Given the description of an element on the screen output the (x, y) to click on. 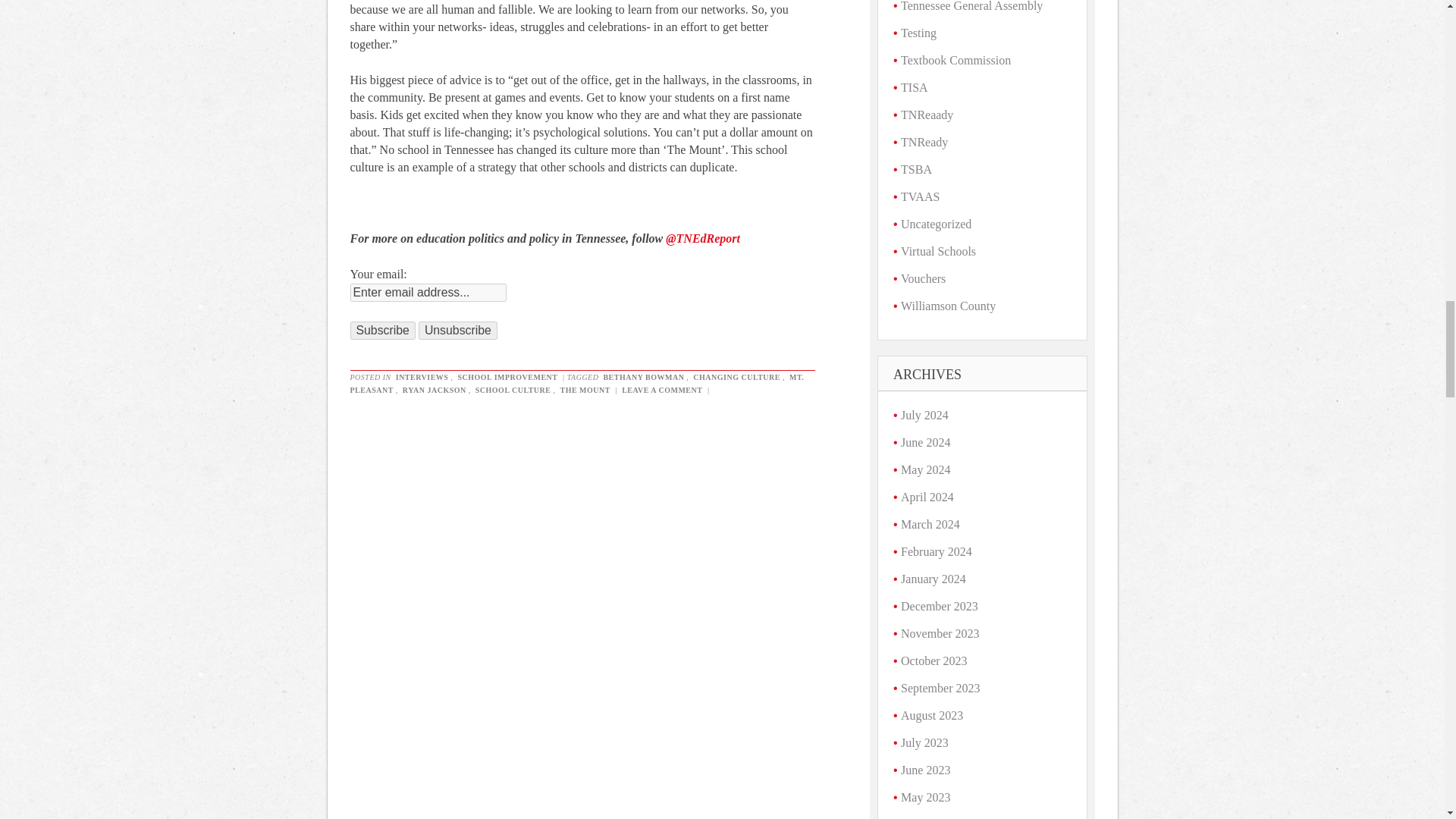
THE MOUNT (584, 389)
BETHANY BOWMAN (642, 377)
MT. PLEASANT (577, 383)
SCHOOL IMPROVEMENT (506, 377)
Subscribe (382, 330)
Unsubscribe (458, 330)
SCHOOL CULTURE (513, 389)
Subscribe (382, 330)
LEAVE A COMMENT (662, 389)
Enter email address... (428, 292)
Unsubscribe (458, 330)
RYAN JACKSON (434, 389)
INTERVIEWS (422, 377)
CHANGING CULTURE (736, 377)
